Given the description of an element on the screen output the (x, y) to click on. 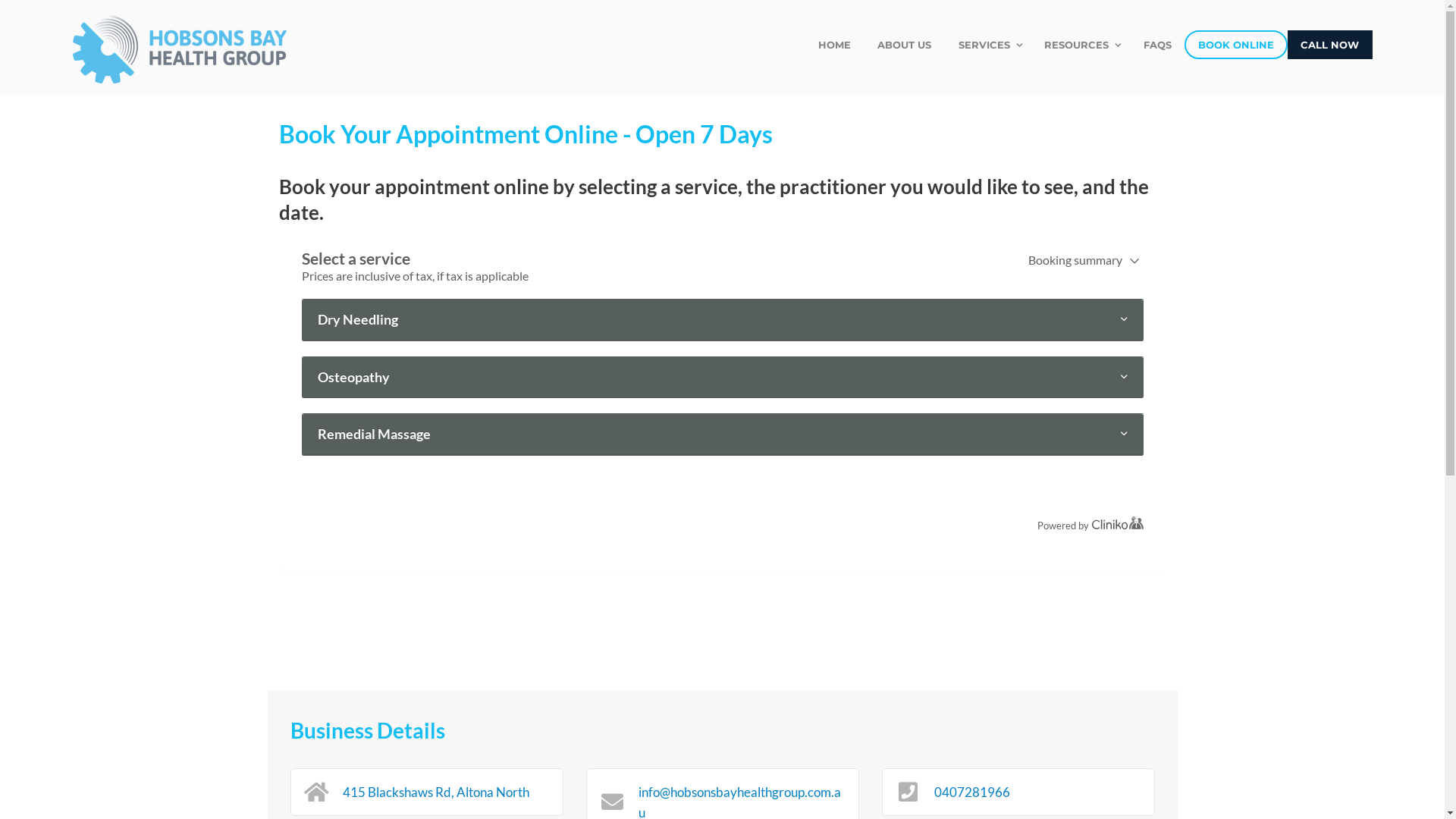
RESOURCES Element type: text (1080, 44)
415 Blackshaws Rd, Altona North Element type: text (435, 792)
BOOK ONLINE Element type: text (1235, 44)
HOME Element type: text (834, 44)
ABOUT US Element type: text (904, 44)
SERVICES Element type: text (987, 44)
FAQS Element type: text (1157, 44)
CALL NOW Element type: text (1330, 44)
0407281966 Element type: text (972, 792)
